Given the description of an element on the screen output the (x, y) to click on. 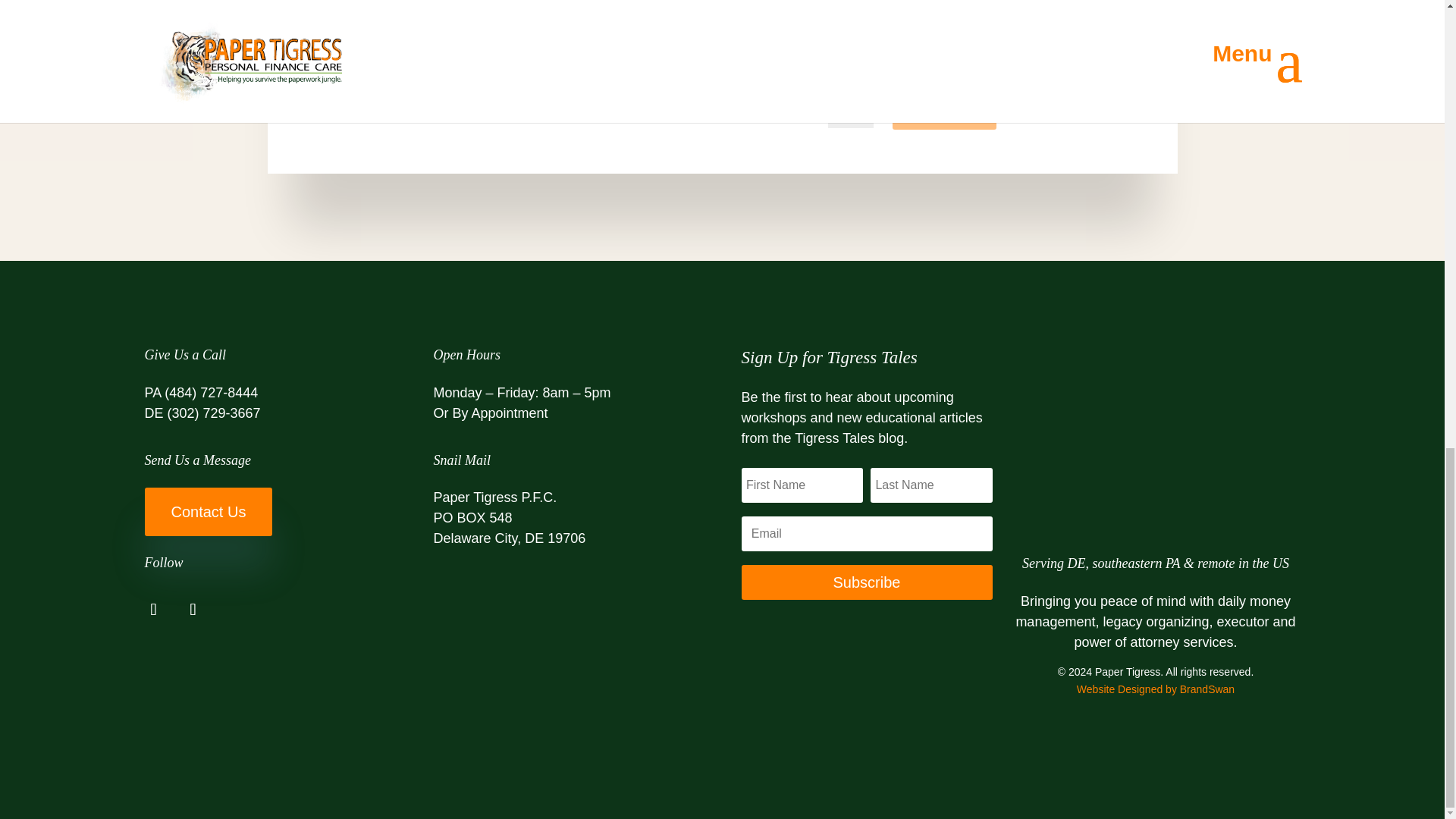
Add to cart (943, 107)
1 (850, 107)
Follow on Facebook (153, 609)
Contact Us (208, 511)
Follow on LinkedIn (192, 609)
Website Designed by BrandSwan (1155, 689)
Subscribe (866, 582)
